Given the description of an element on the screen output the (x, y) to click on. 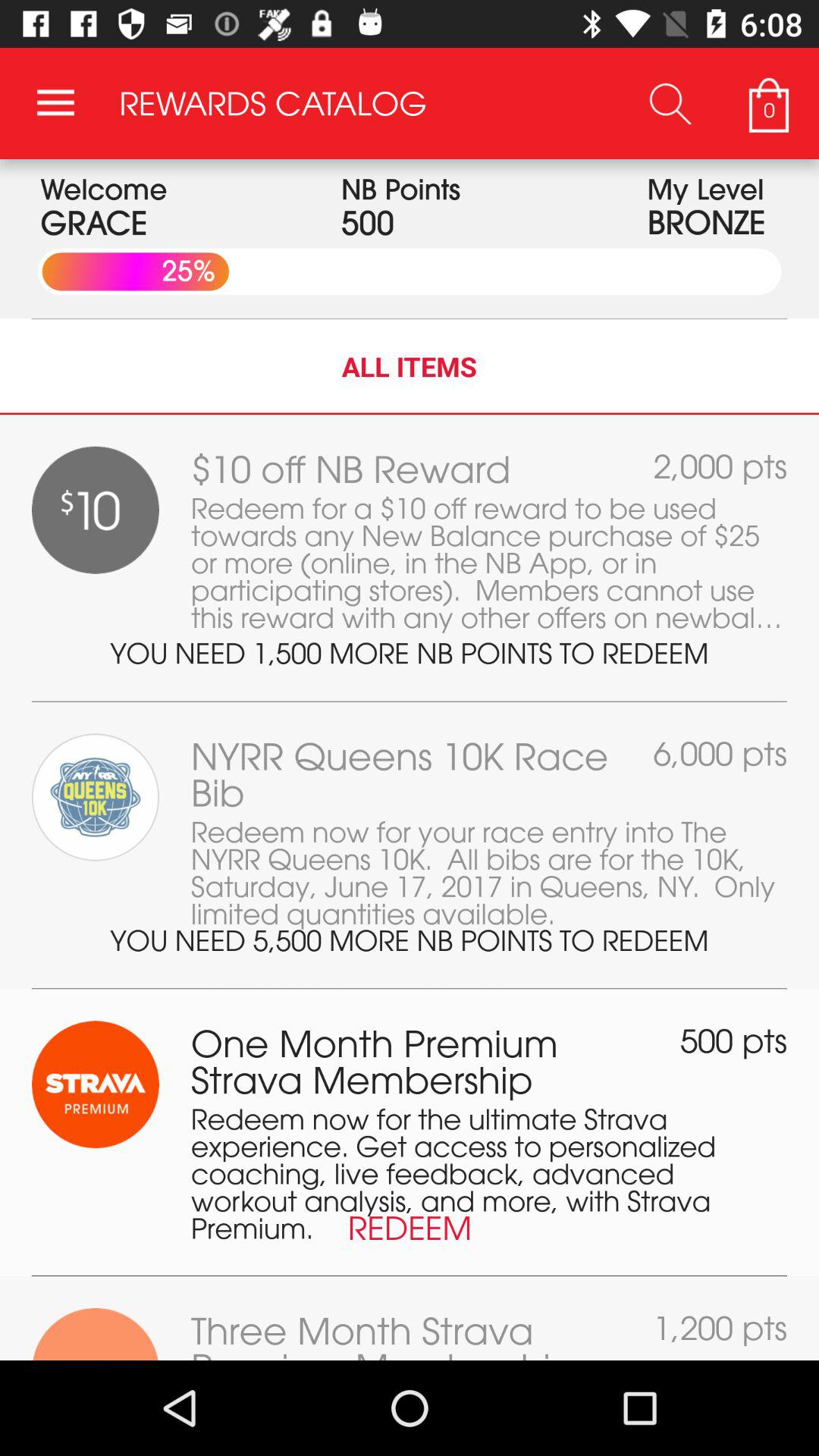
tap icon to the right of one month premium (733, 1040)
